Given the description of an element on the screen output the (x, y) to click on. 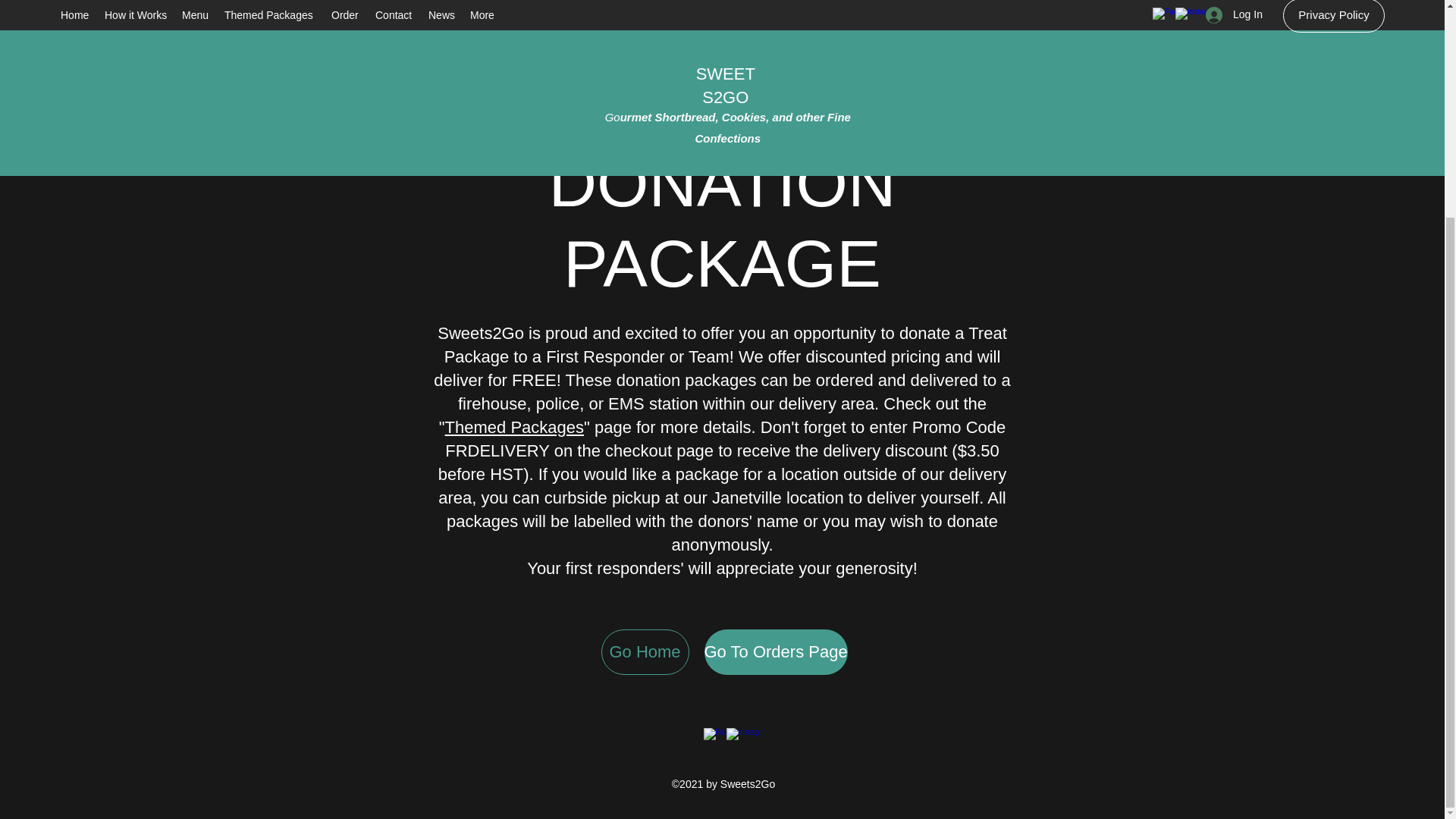
Themed Packages (514, 426)
Go Home (643, 651)
Go To Orders Page (775, 651)
